Given the description of an element on the screen output the (x, y) to click on. 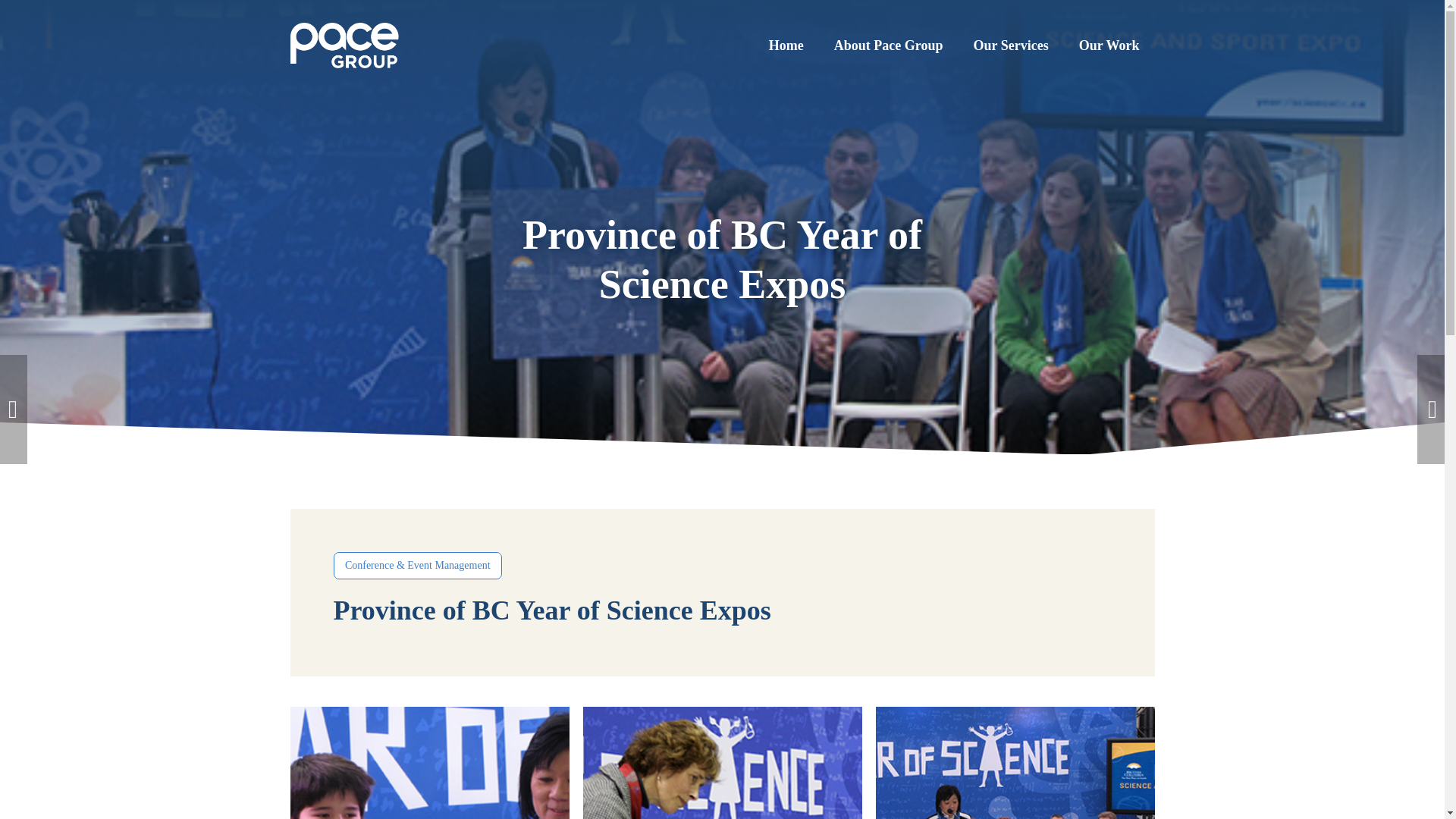
About Pace Group (888, 45)
Prov-YOS-006-small (429, 762)
Prov-YOS-Dr-Van-der-Flier-Keller4 (721, 762)
Our Services (1011, 45)
Our Work (1109, 45)
